Given the description of an element on the screen output the (x, y) to click on. 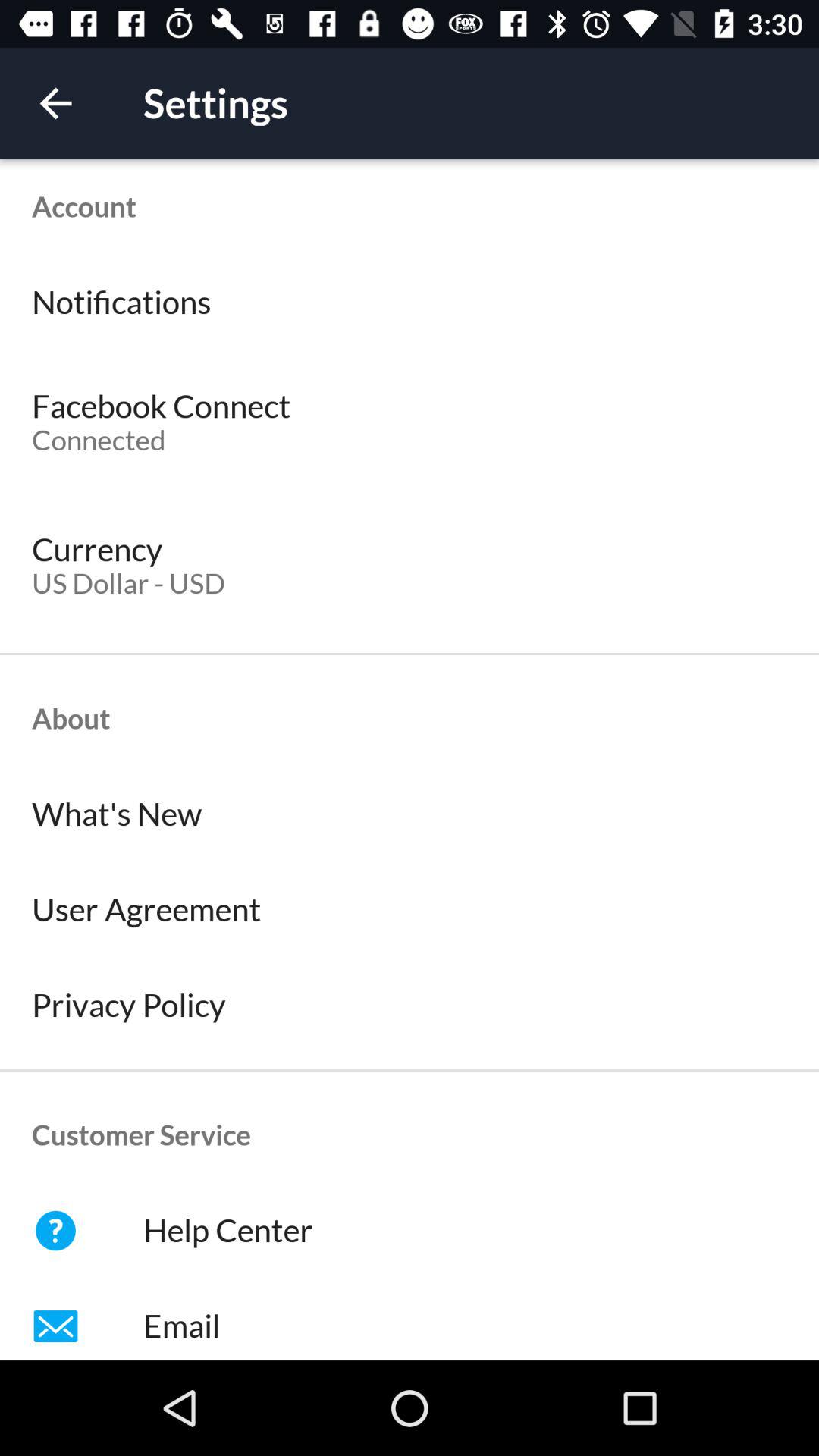
tap icon below help center icon (409, 1319)
